Given the description of an element on the screen output the (x, y) to click on. 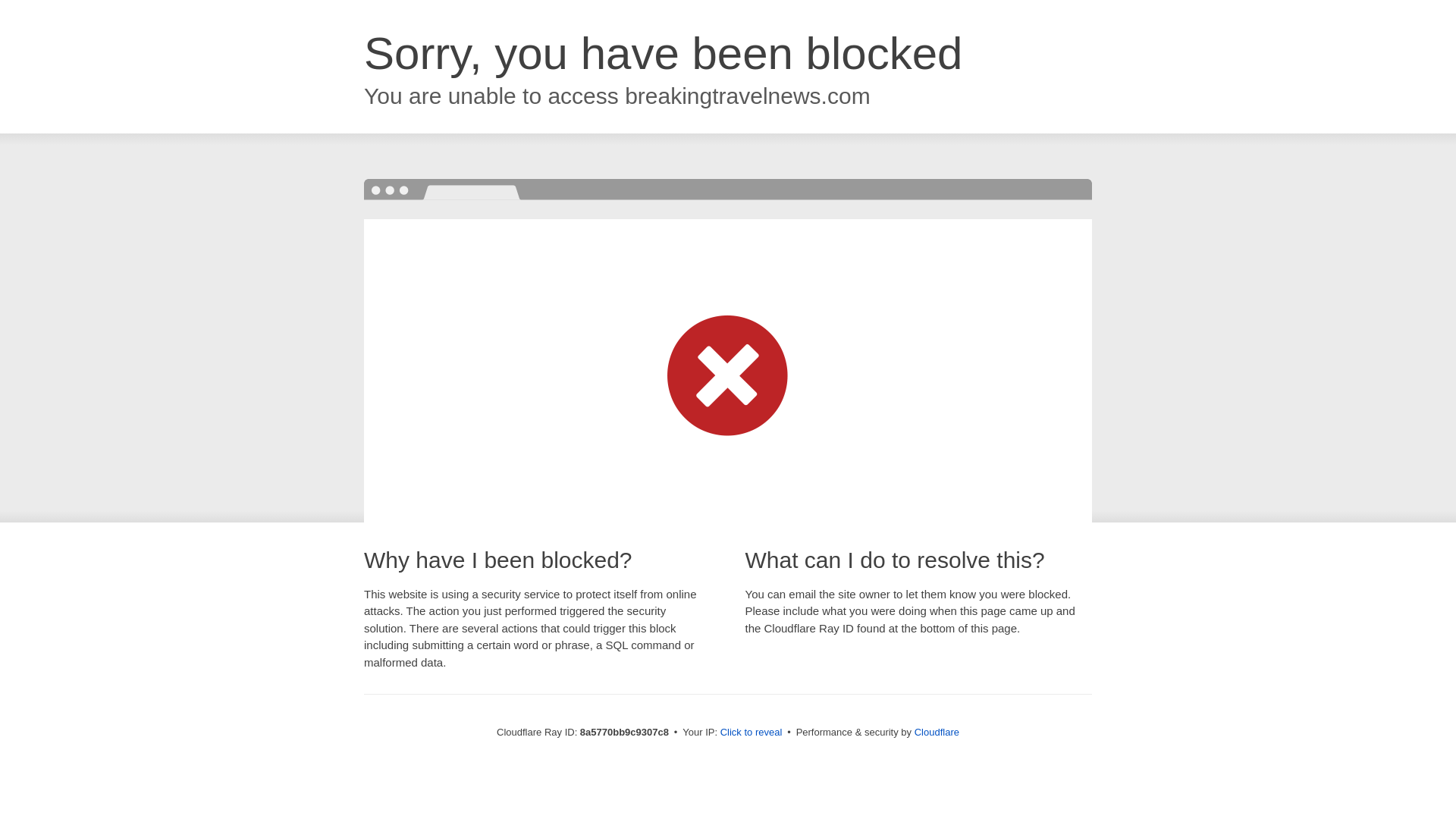
Cloudflare (936, 731)
Click to reveal (751, 732)
